Given the description of an element on the screen output the (x, y) to click on. 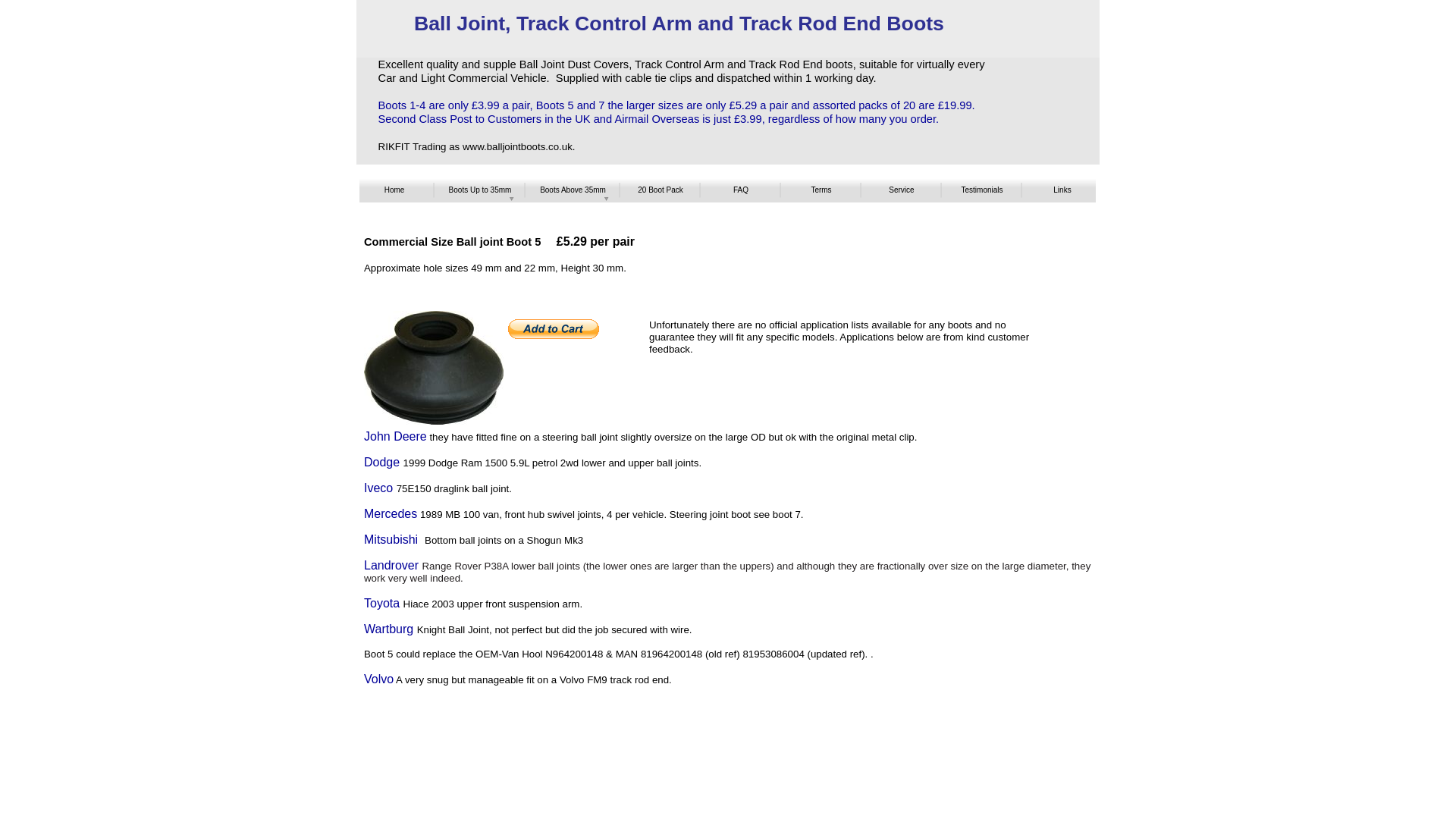
20 Boot Pack (660, 189)
Links (1062, 189)
Boots Above 35mm (572, 189)
Frequently Asked Questions (740, 189)
Commercial Size Ball joint Boot 5 (433, 368)
Home (394, 189)
Link Partners (1062, 189)
Index of Boots Up to 35mm (479, 189)
Terms (820, 189)
Customer Service (900, 189)
Ball Joint Boots Home (394, 189)
FAQ (740, 189)
Index of Boots above 35mm (572, 189)
Service (900, 189)
Terms, Conditions and Privacy. (820, 189)
